Given the description of an element on the screen output the (x, y) to click on. 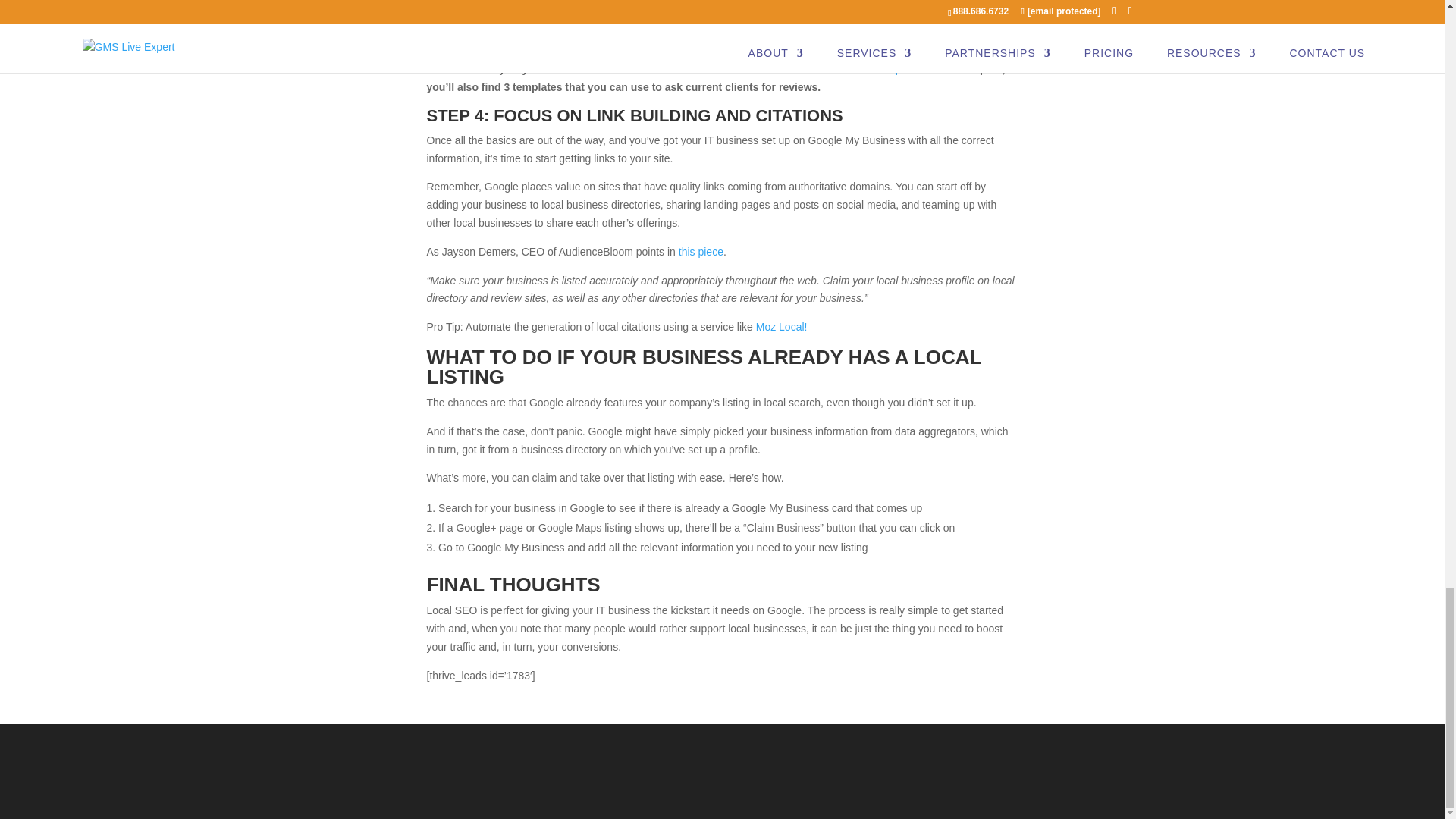
this piece (700, 251)
in this post here (901, 69)
Moz Local! (781, 326)
